Given the description of an element on the screen output the (x, y) to click on. 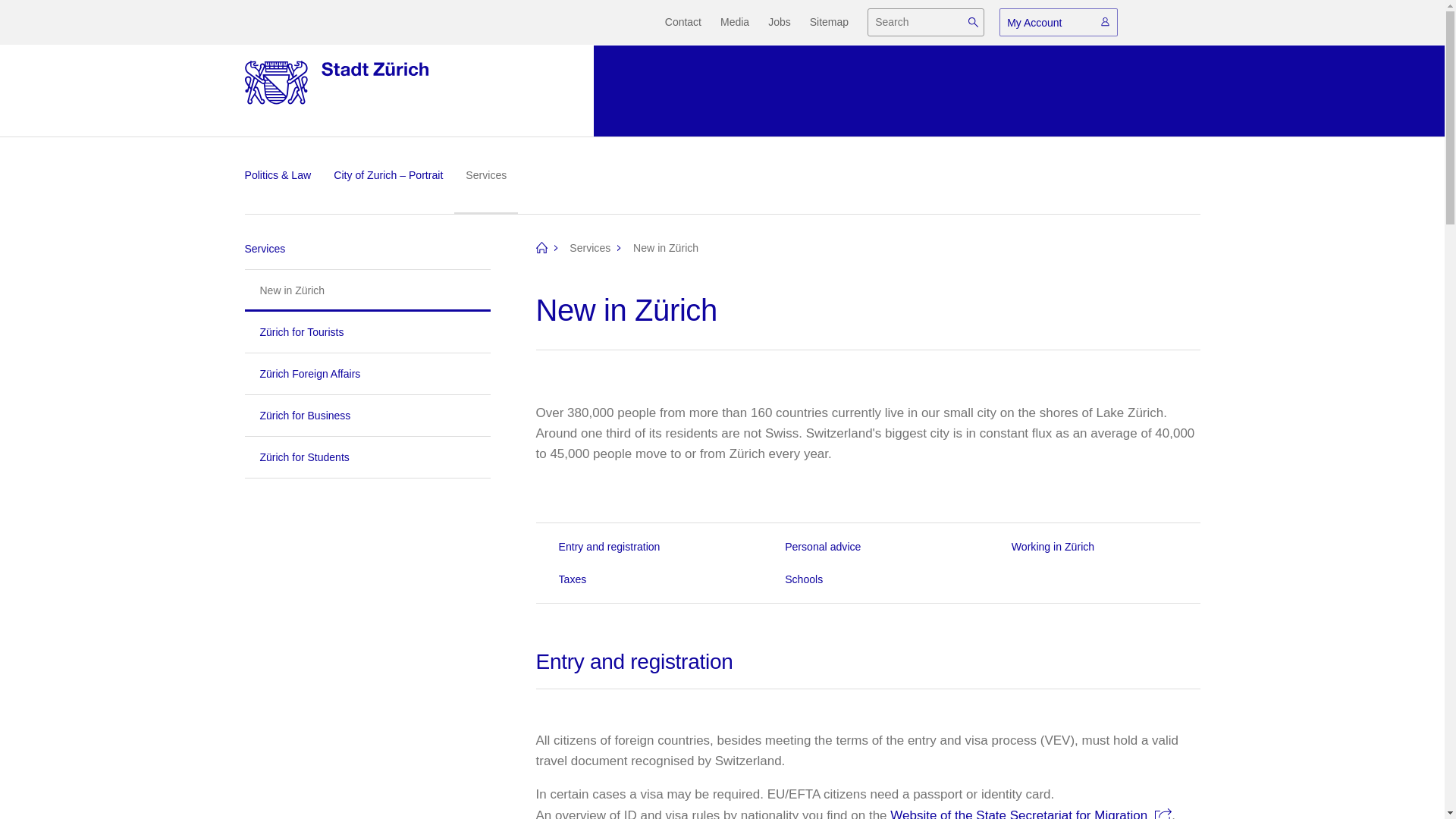
Jobs (788, 22)
Entry and registration (641, 547)
Go to content (660, 42)
Search (973, 21)
Search (973, 21)
Sitemap (838, 22)
Go to tools navigation (636, 42)
Search (973, 21)
Go to search (662, 42)
Services (589, 247)
